Given the description of an element on the screen output the (x, y) to click on. 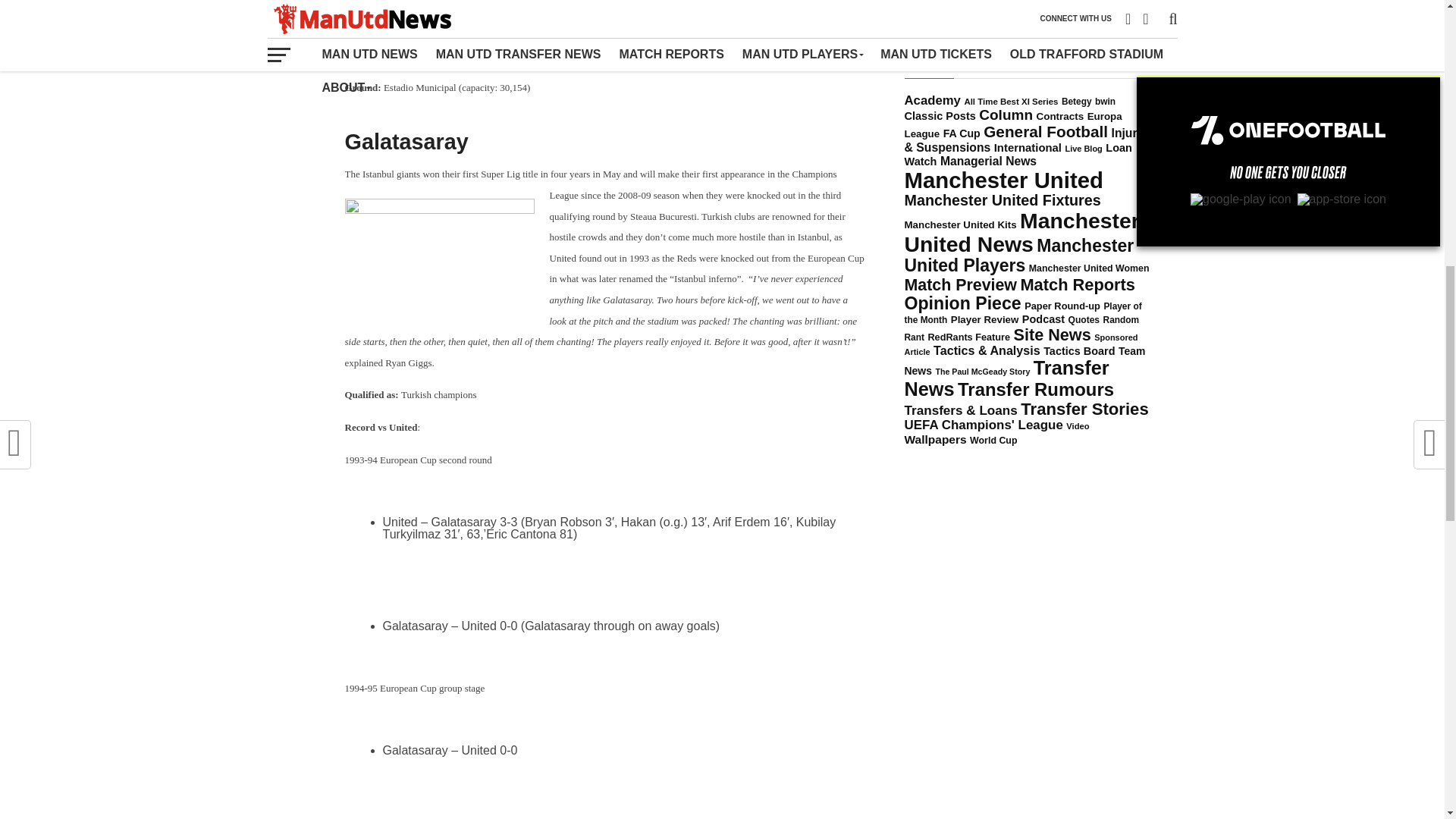
gala (438, 253)
